Given the description of an element on the screen output the (x, y) to click on. 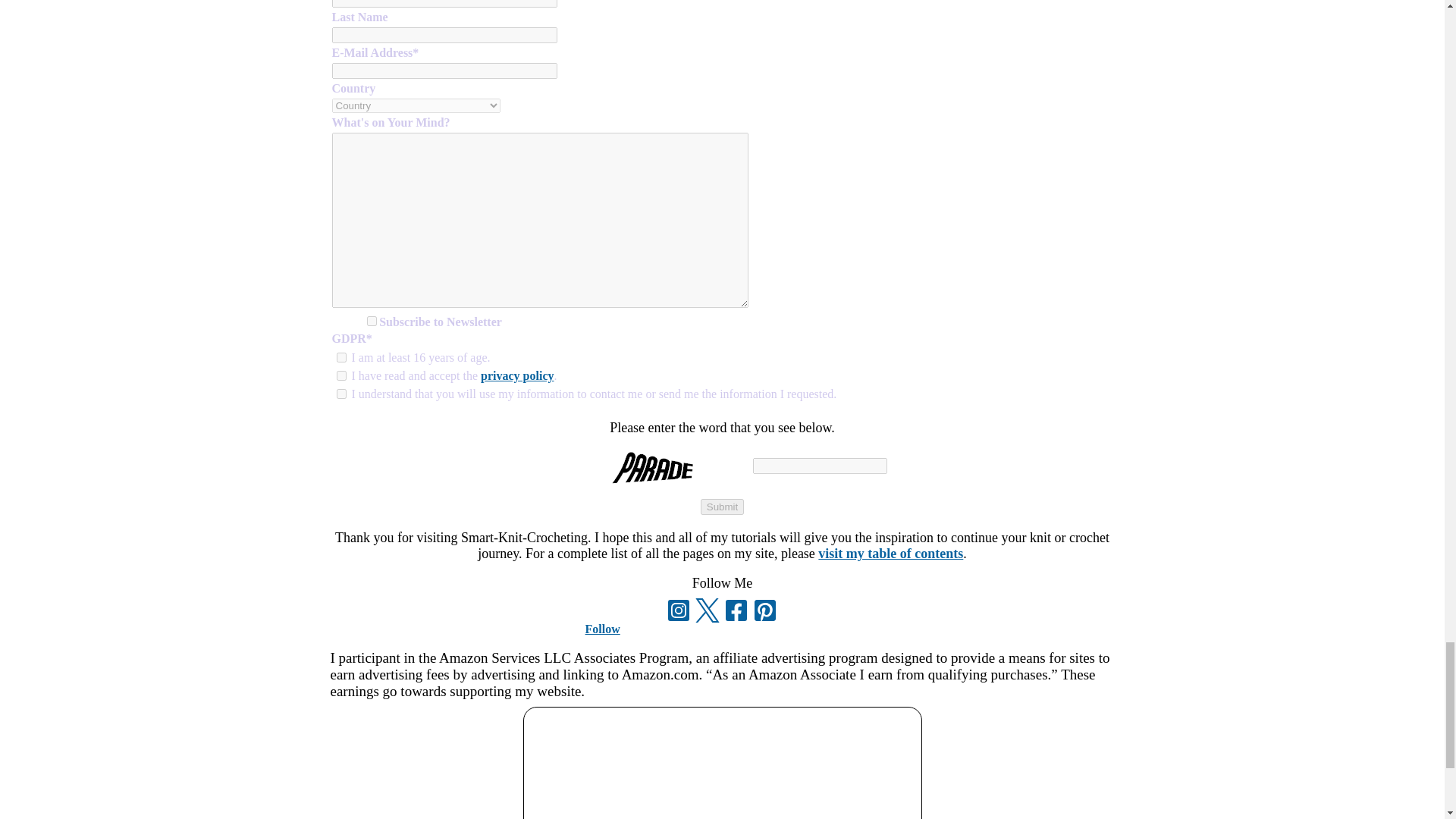
1 (371, 320)
I am at least 16 years of age. (341, 357)
Submit (722, 506)
Newsletter signup banner image (721, 762)
